Given the description of an element on the screen output the (x, y) to click on. 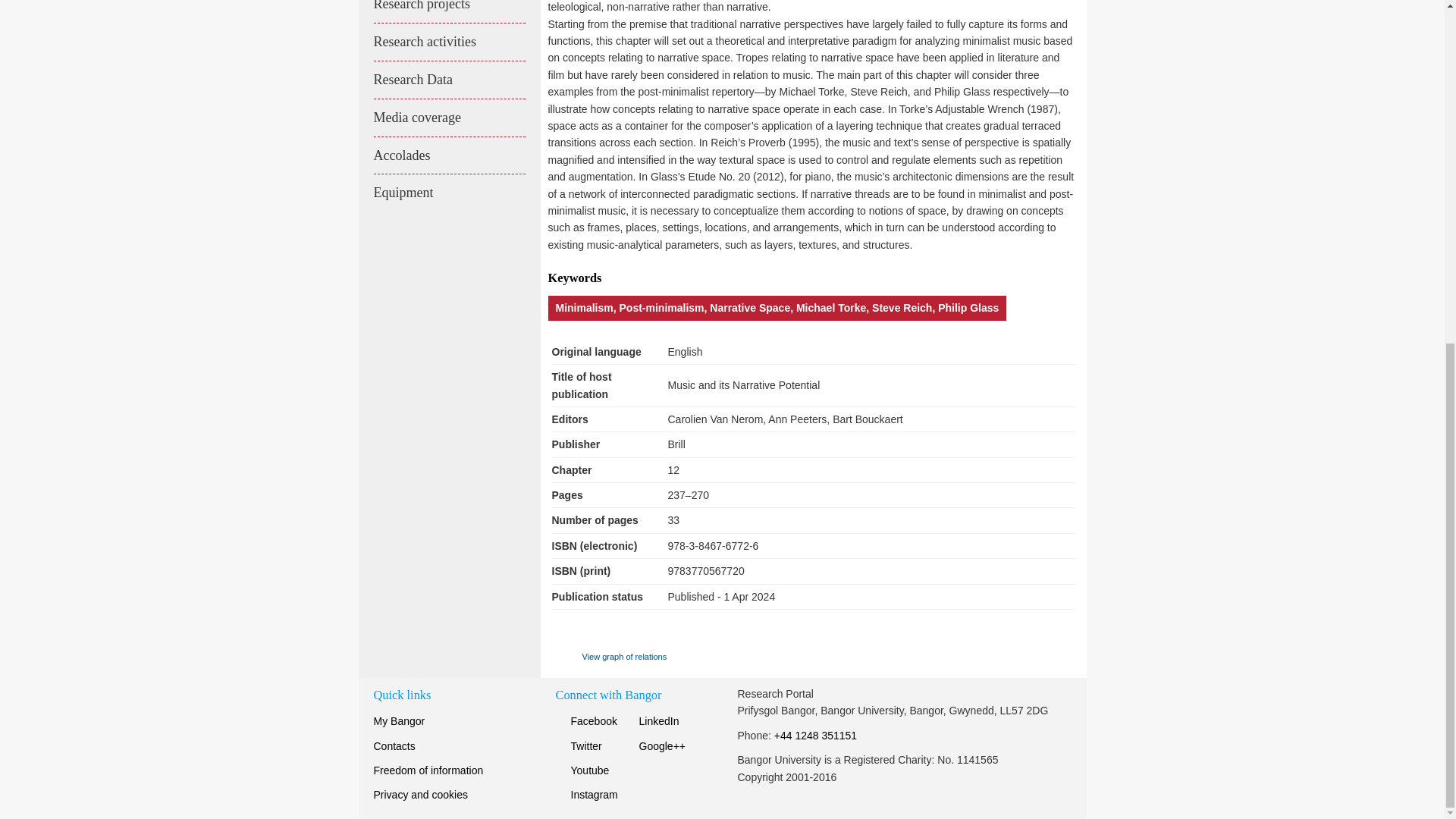
Research activities (448, 41)
My Bangor (398, 720)
Research Data (448, 79)
Freedom of information (427, 770)
Research projects (448, 11)
View graph of relations (609, 656)
Youtube (581, 770)
Facebook (584, 720)
Accolades (448, 155)
Twitter (577, 746)
